Given the description of an element on the screen output the (x, y) to click on. 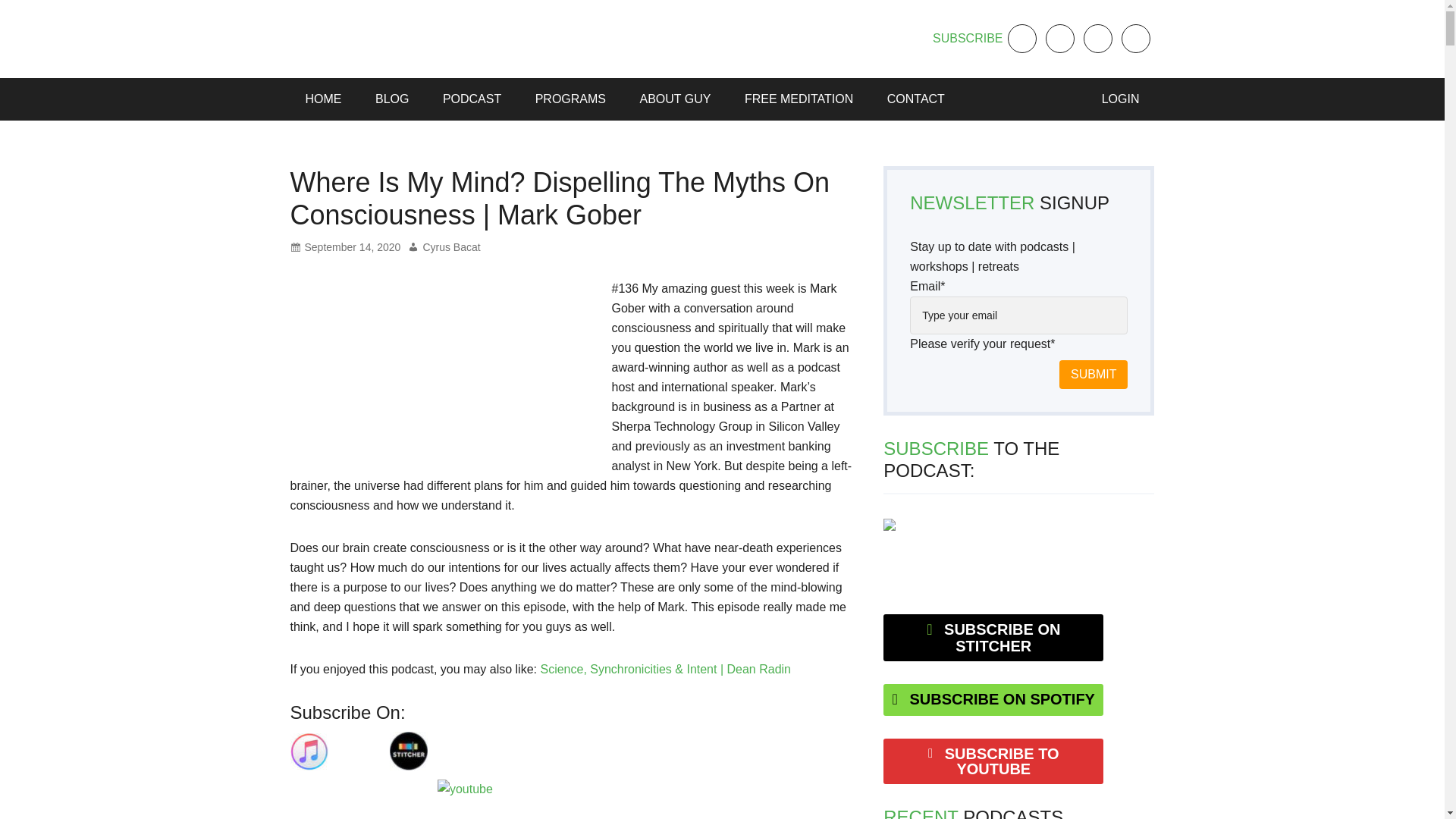
HOME (322, 98)
PODCAST (472, 98)
PROGRAMS (570, 98)
Guy Lawrence (336, 38)
BLOG (391, 98)
ABOUT GUY (674, 98)
SUBSCRIBE ON SPOTIFY (993, 699)
SUBMIT (1092, 374)
SUBSCRIBE ON STITCHER (993, 637)
CONTACT (908, 98)
